Given the description of an element on the screen output the (x, y) to click on. 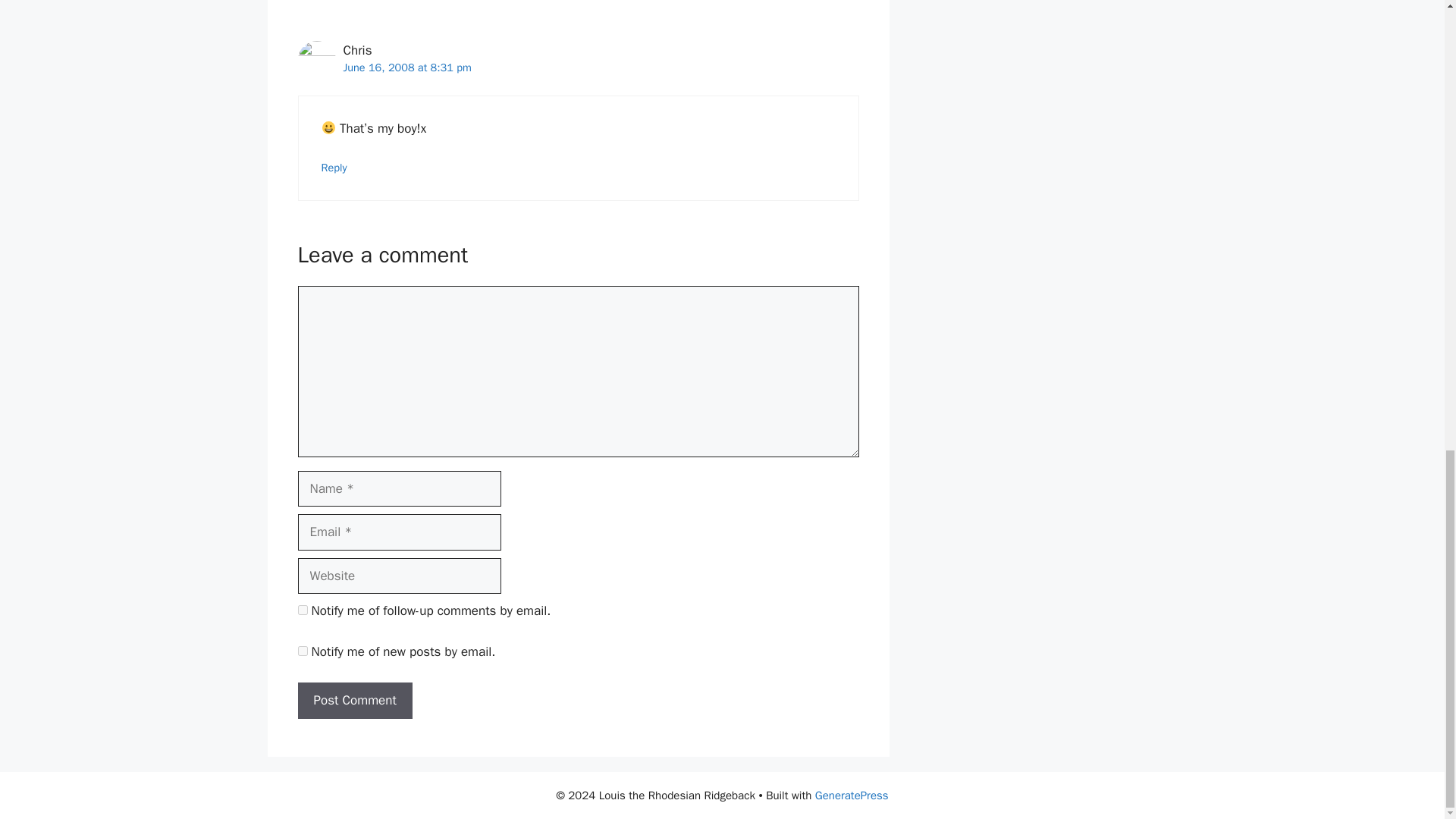
subscribe (302, 610)
Reply (334, 167)
Post Comment (354, 700)
subscribe (302, 651)
Post Comment (354, 700)
June 16, 2008 at 8:31 pm (406, 67)
